Given the description of an element on the screen output the (x, y) to click on. 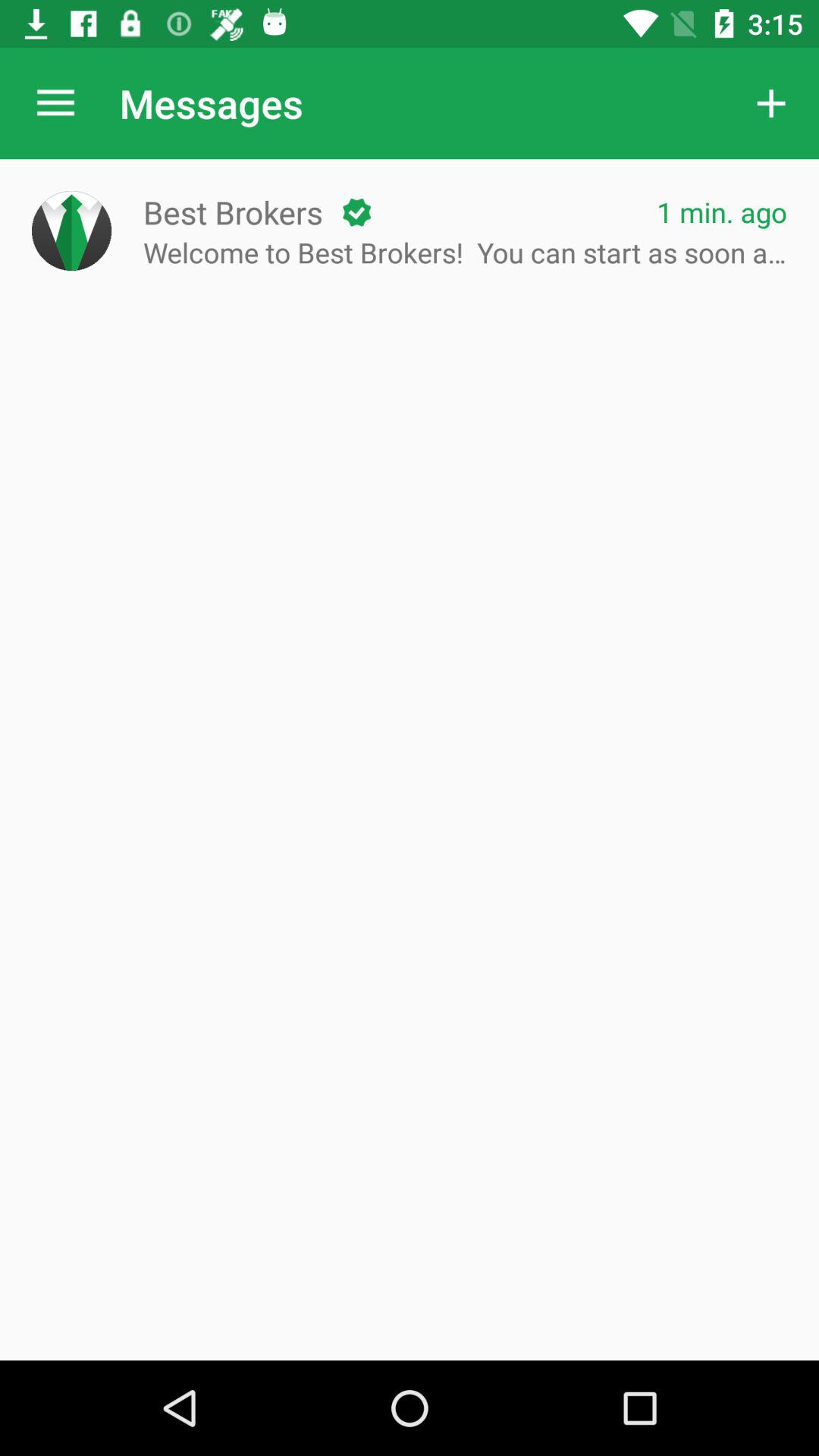
tap the item next to the messages item (771, 103)
